Given the description of an element on the screen output the (x, y) to click on. 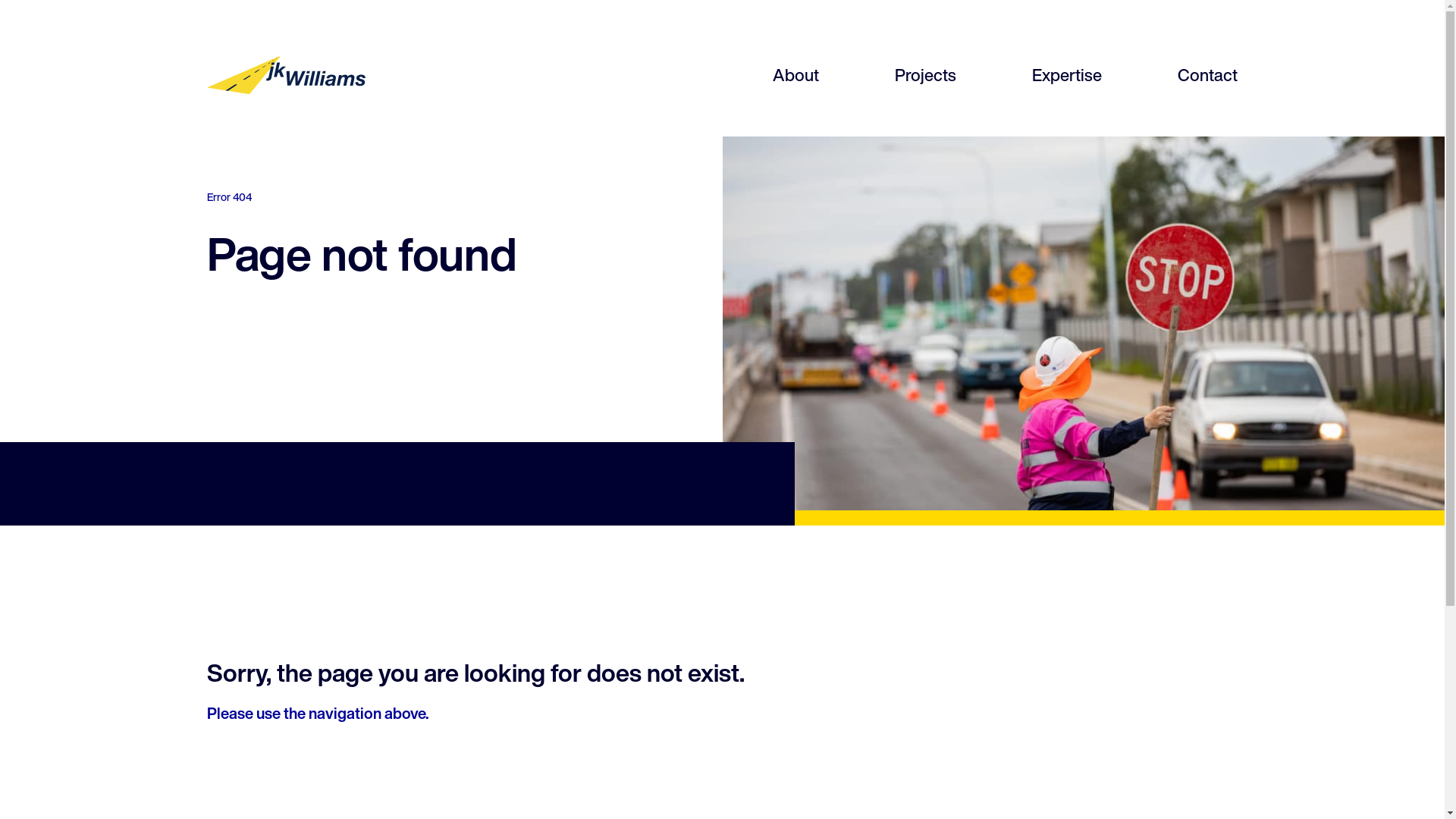
Expertise Element type: text (1066, 74)
Contact Element type: text (1207, 74)
About Element type: text (795, 74)
Projects Element type: text (925, 74)
